Given the description of an element on the screen output the (x, y) to click on. 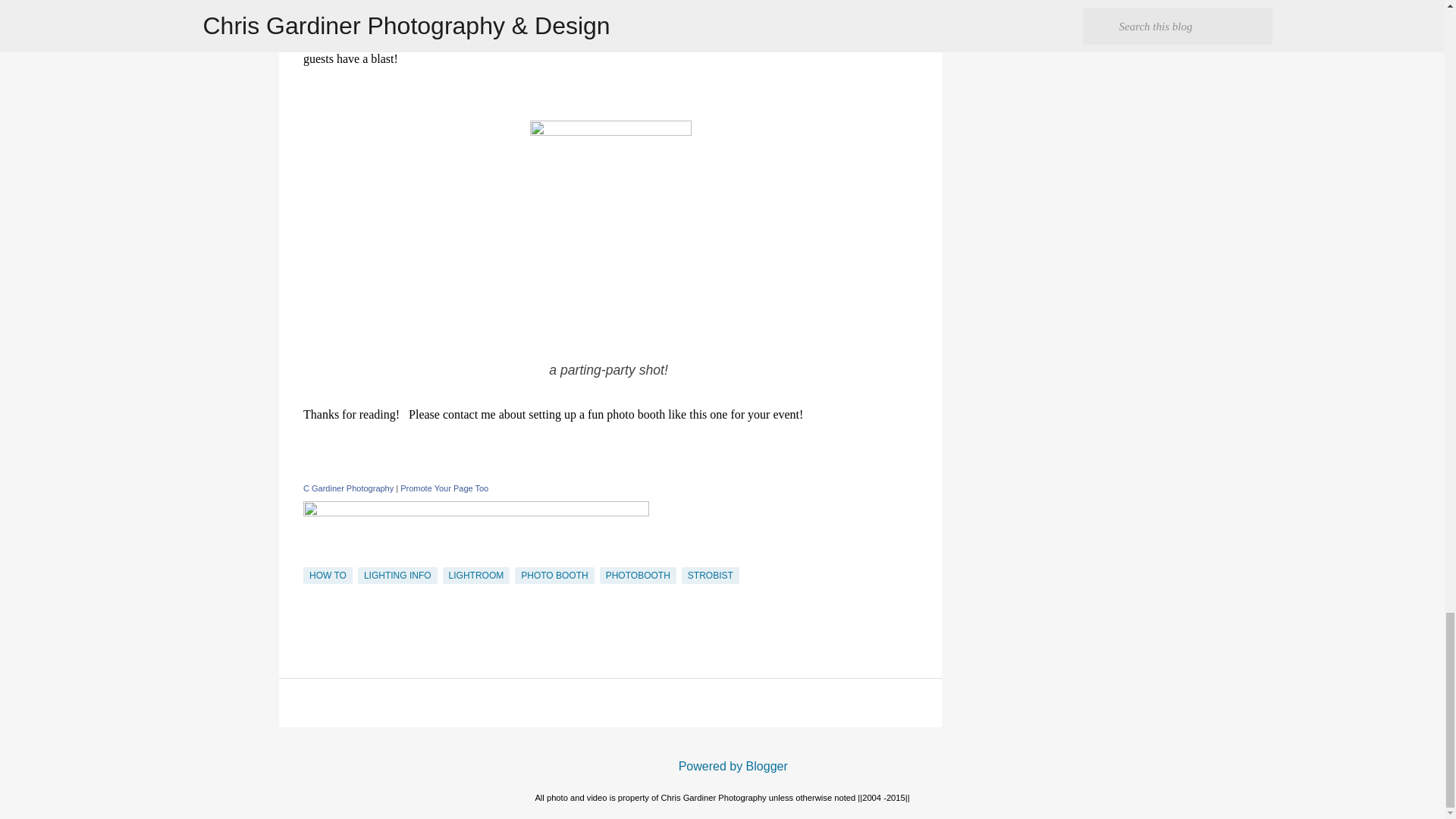
C Gardiner Photography (347, 488)
C Gardiner Photography (475, 512)
PHOTOBOOTH (638, 575)
STROBIST (710, 575)
Make your own badge! (443, 488)
LIGHTING INFO (398, 575)
LIGHTROOM (476, 575)
HOW TO (327, 575)
Promote Your Page Too (443, 488)
PHOTO BOOTH (554, 575)
